Given the description of an element on the screen output the (x, y) to click on. 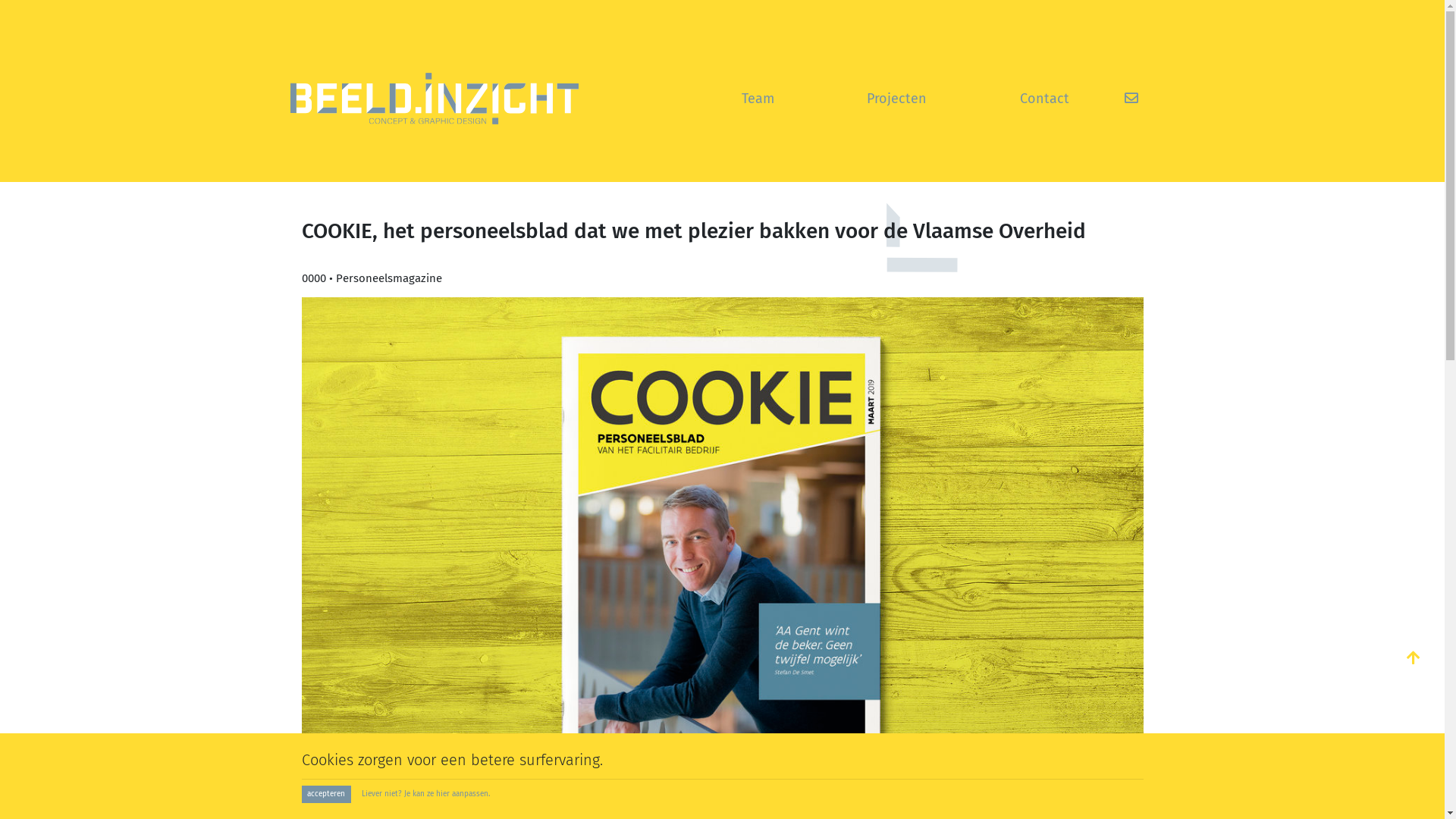
Liever niet? Je kan ze hier aanpassen. Element type: text (424, 793)
Projecten Element type: text (896, 98)
[screenreader.back to home] Element type: text (433, 98)
Team Element type: text (757, 98)
[screenreader.contact us through email] Element type: text (1131, 98)
Contact Element type: text (1044, 98)
accepteren Element type: text (326, 794)
